Given the description of an element on the screen output the (x, y) to click on. 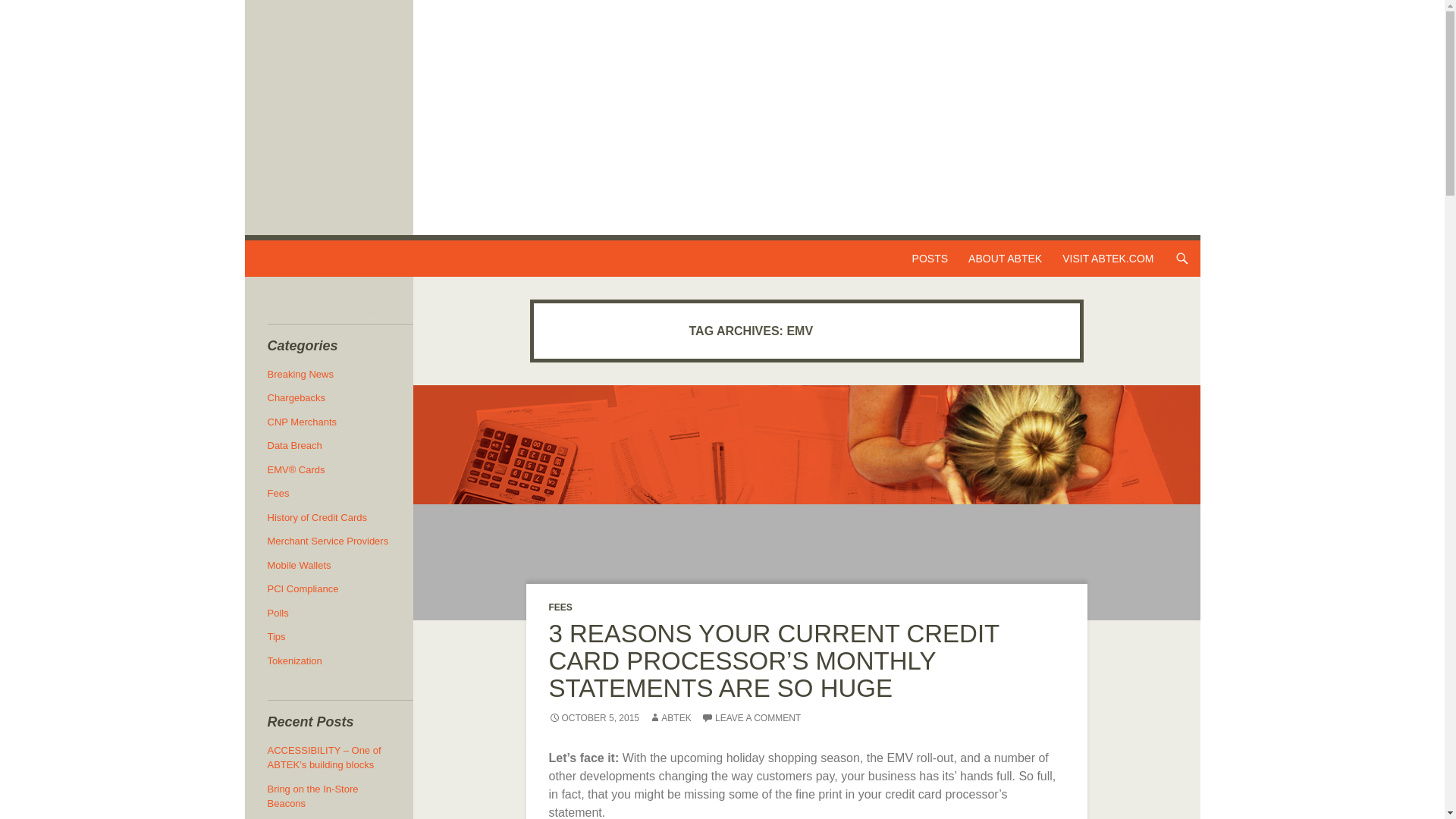
CNP Merchants (301, 421)
SKIP TO CONTENT (959, 248)
Breaking News (299, 374)
Chargebacks (295, 397)
FEES (560, 606)
LEAVE A COMMENT (750, 717)
Tips (275, 636)
Search (267, 249)
PCI Compliance (301, 588)
ABTEK (669, 717)
